Given the description of an element on the screen output the (x, y) to click on. 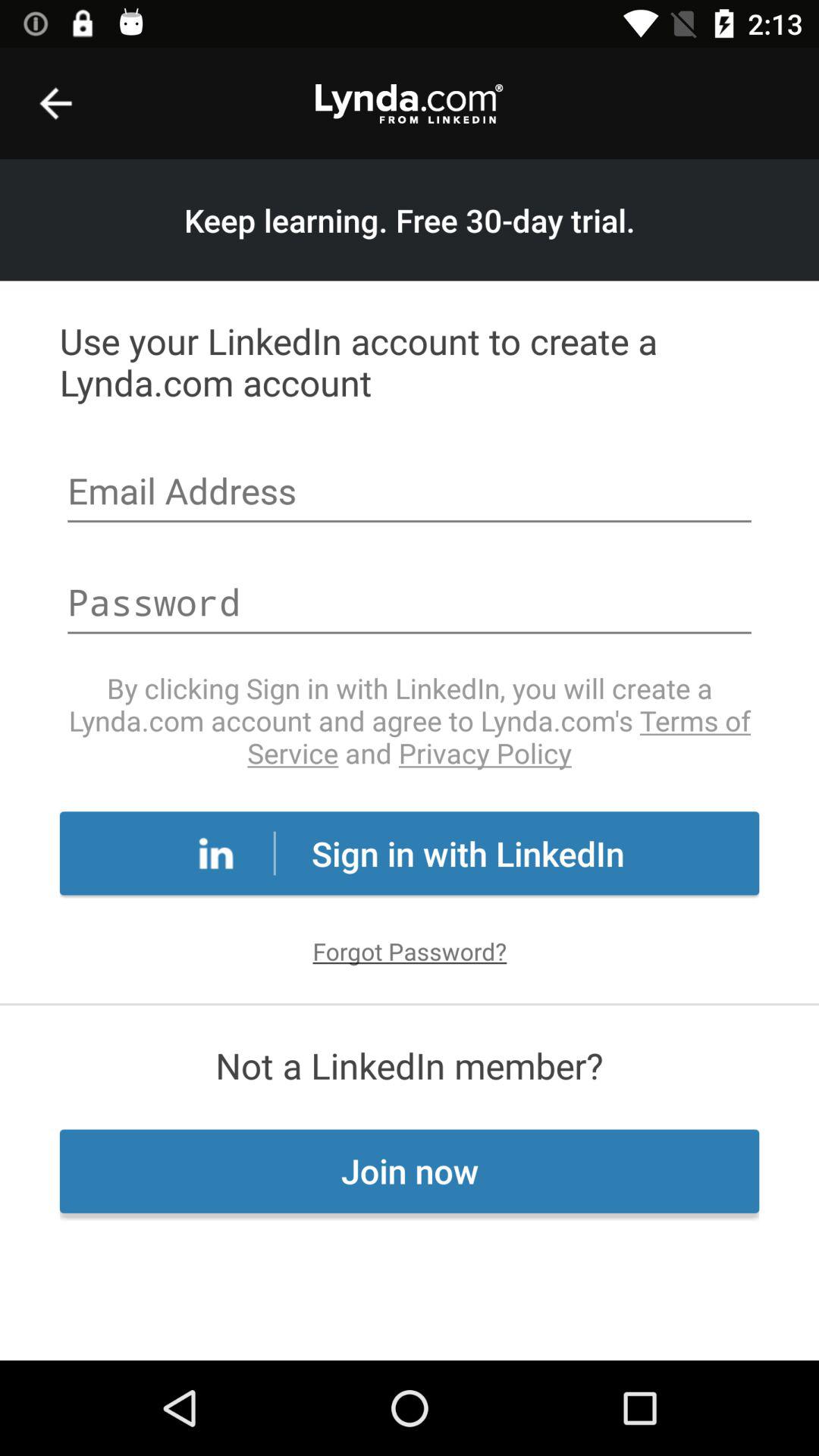
turn off the join now item (409, 1171)
